Given the description of an element on the screen output the (x, y) to click on. 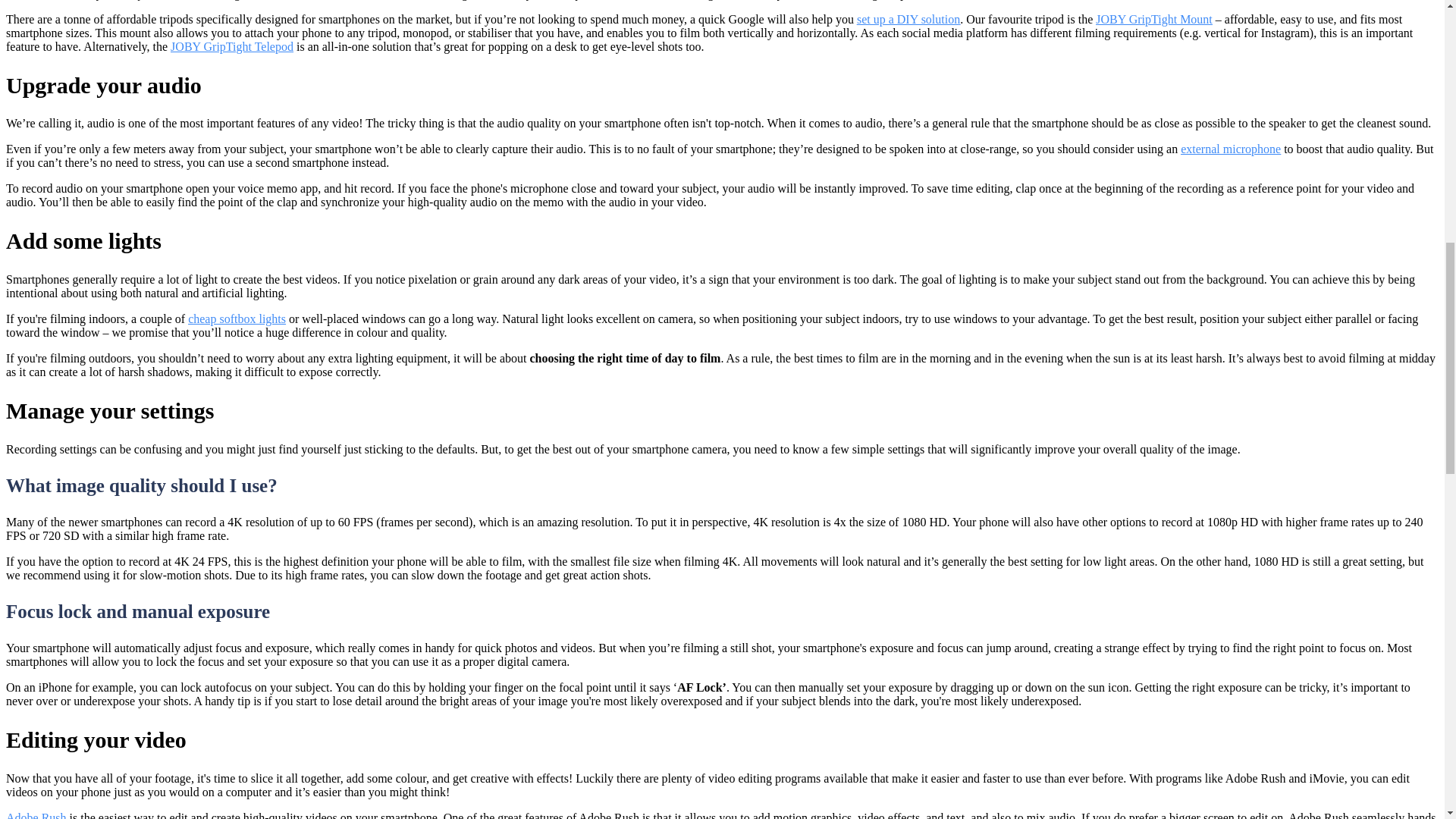
external microphone (1230, 148)
cheap softbox lights (236, 318)
JOBY GripTight Telepod (232, 46)
set up a DIY solution (908, 19)
JOBY GripTight Mount (1154, 19)
Adobe Rush (35, 815)
